Given the description of an element on the screen output the (x, y) to click on. 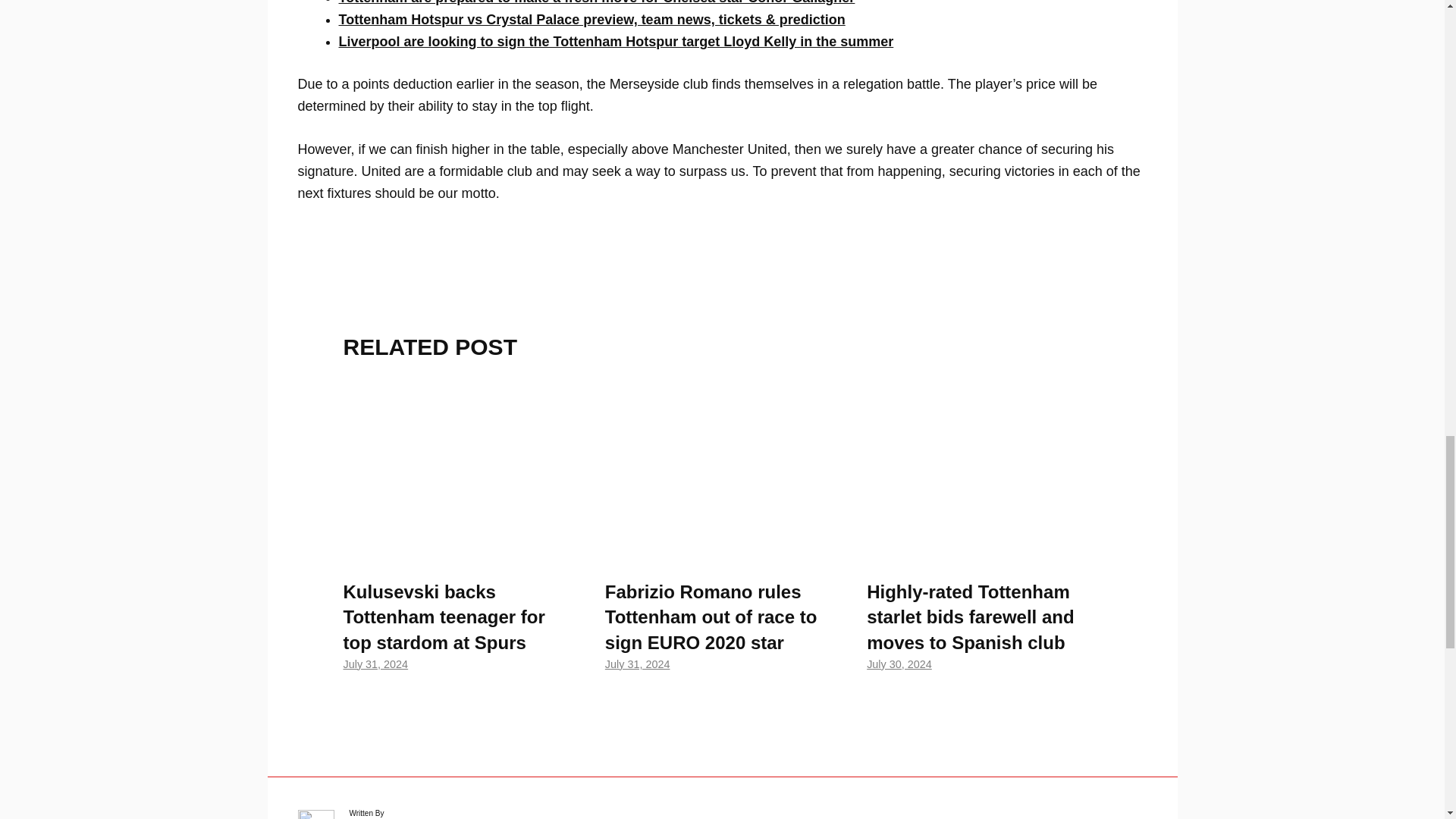
Kulusevski backs Tottenham teenager for top stardom at Spurs (459, 554)
12:00 am (637, 664)
1:00 am (374, 664)
11:00 pm (898, 664)
